Given the description of an element on the screen output the (x, y) to click on. 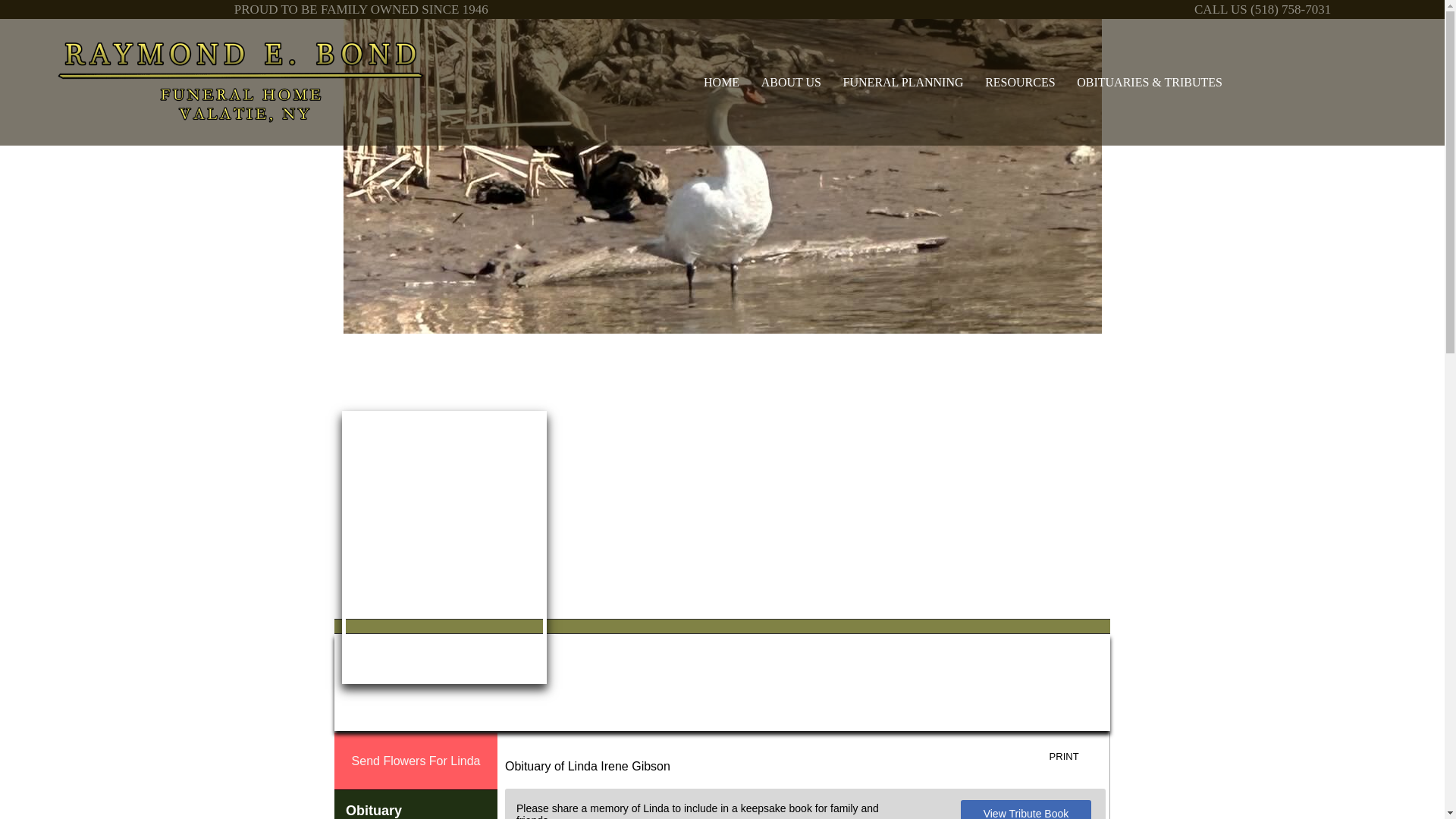
FUNERAL PLANNING (902, 81)
Obituary (415, 804)
SIGN IN (1079, 374)
HOME (721, 81)
RESOURCES (1020, 81)
View Tribute Book (1026, 809)
Send Flowers For Linda (415, 760)
ABOUT US (790, 81)
PRINT (1075, 756)
Print (1075, 756)
